Given the description of an element on the screen output the (x, y) to click on. 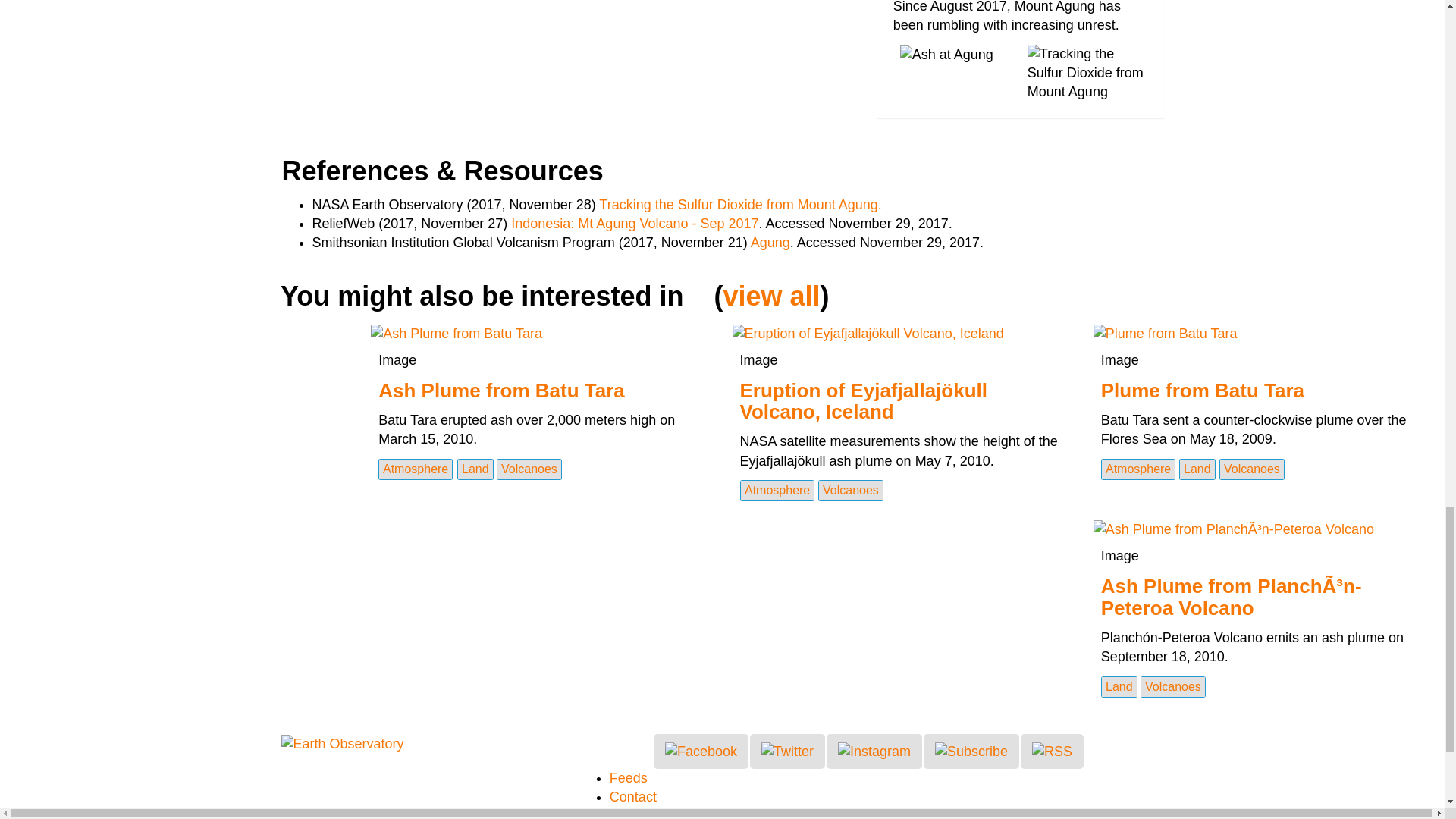
Twitter (787, 751)
Instagram (874, 751)
RSS (1051, 751)
Facebook (700, 751)
Earth Observatory (342, 743)
Subscribe (971, 751)
